Given the description of an element on the screen output the (x, y) to click on. 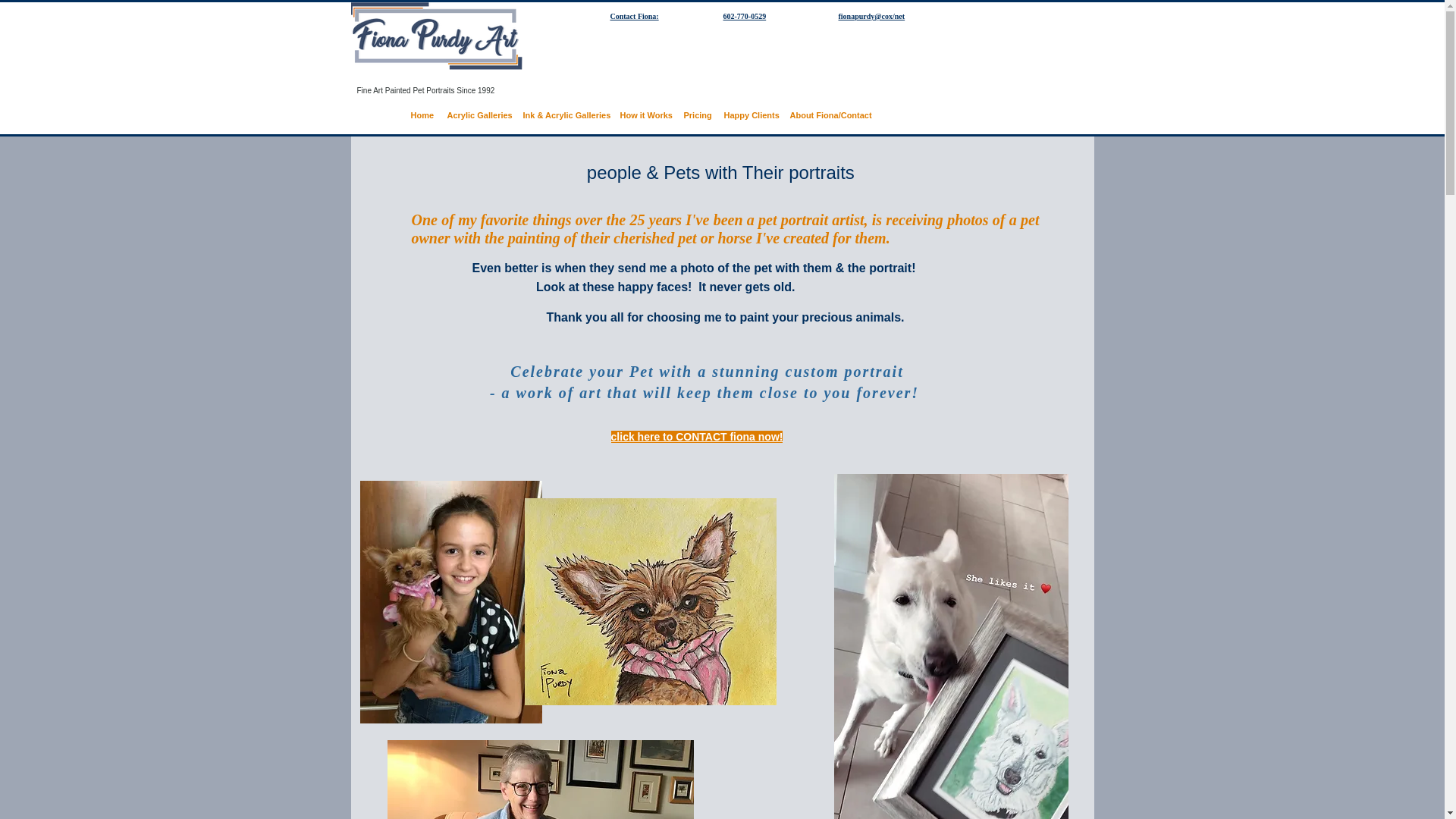
Acrylic Galleries (477, 115)
click here to CONTACT fiona now! (697, 437)
Pricing (696, 115)
Contact Fiona: (634, 16)
602-770-0529 (745, 16)
